Given the description of an element on the screen output the (x, y) to click on. 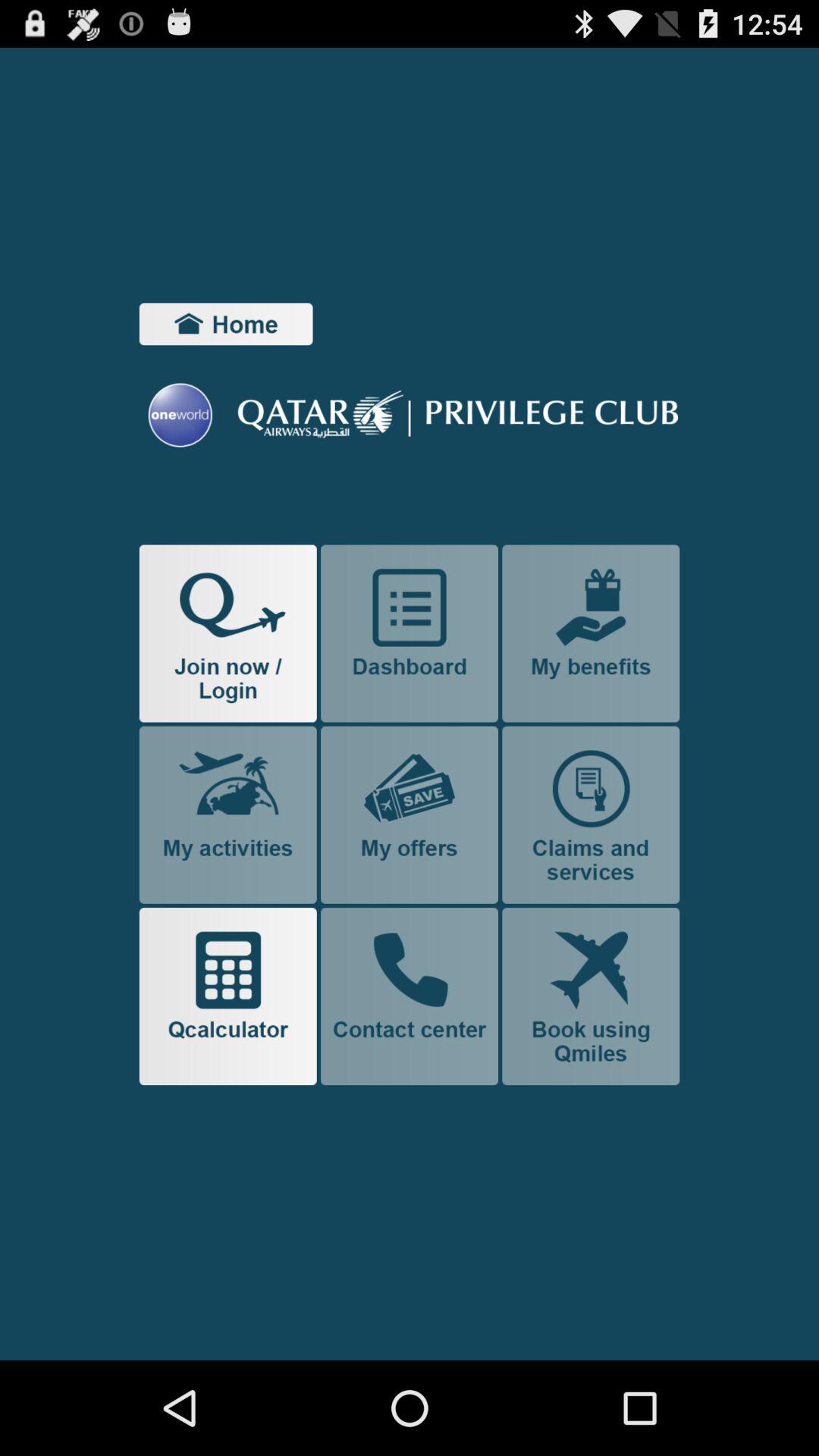
go to home (225, 324)
